Given the description of an element on the screen output the (x, y) to click on. 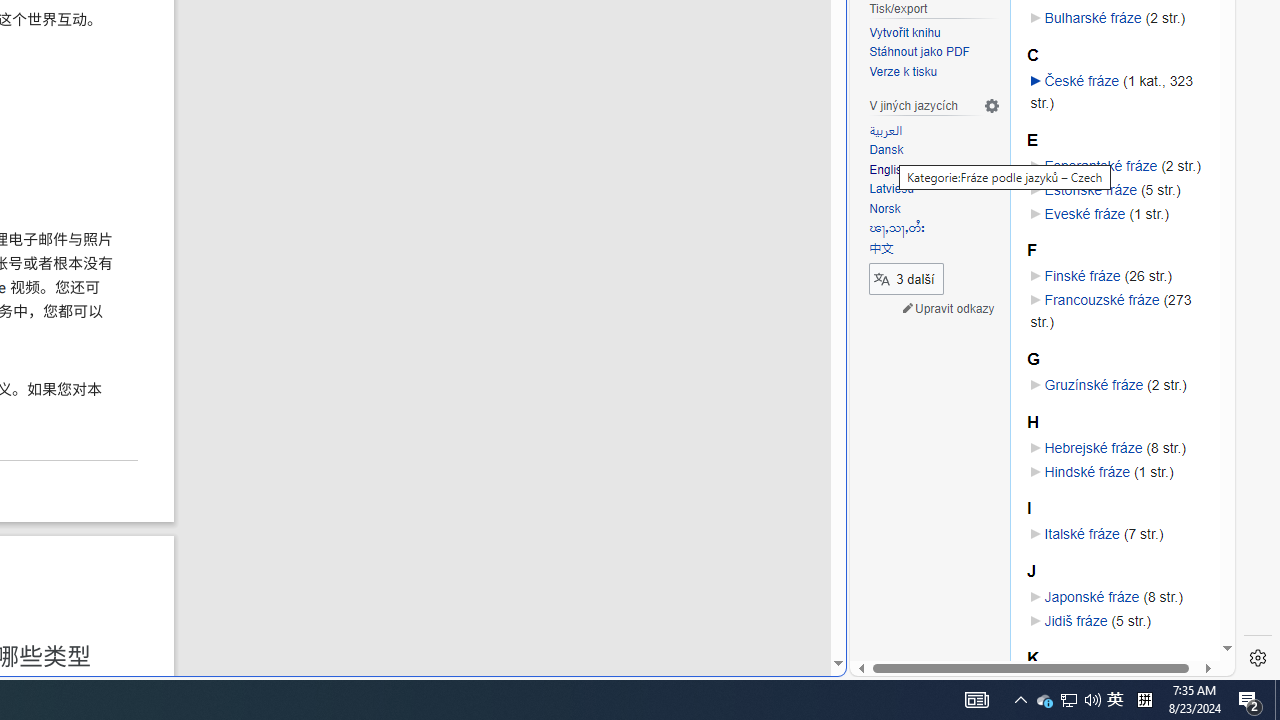
Verze k tisku (903, 71)
Global web icon (888, 663)
